Given the description of an element on the screen output the (x, y) to click on. 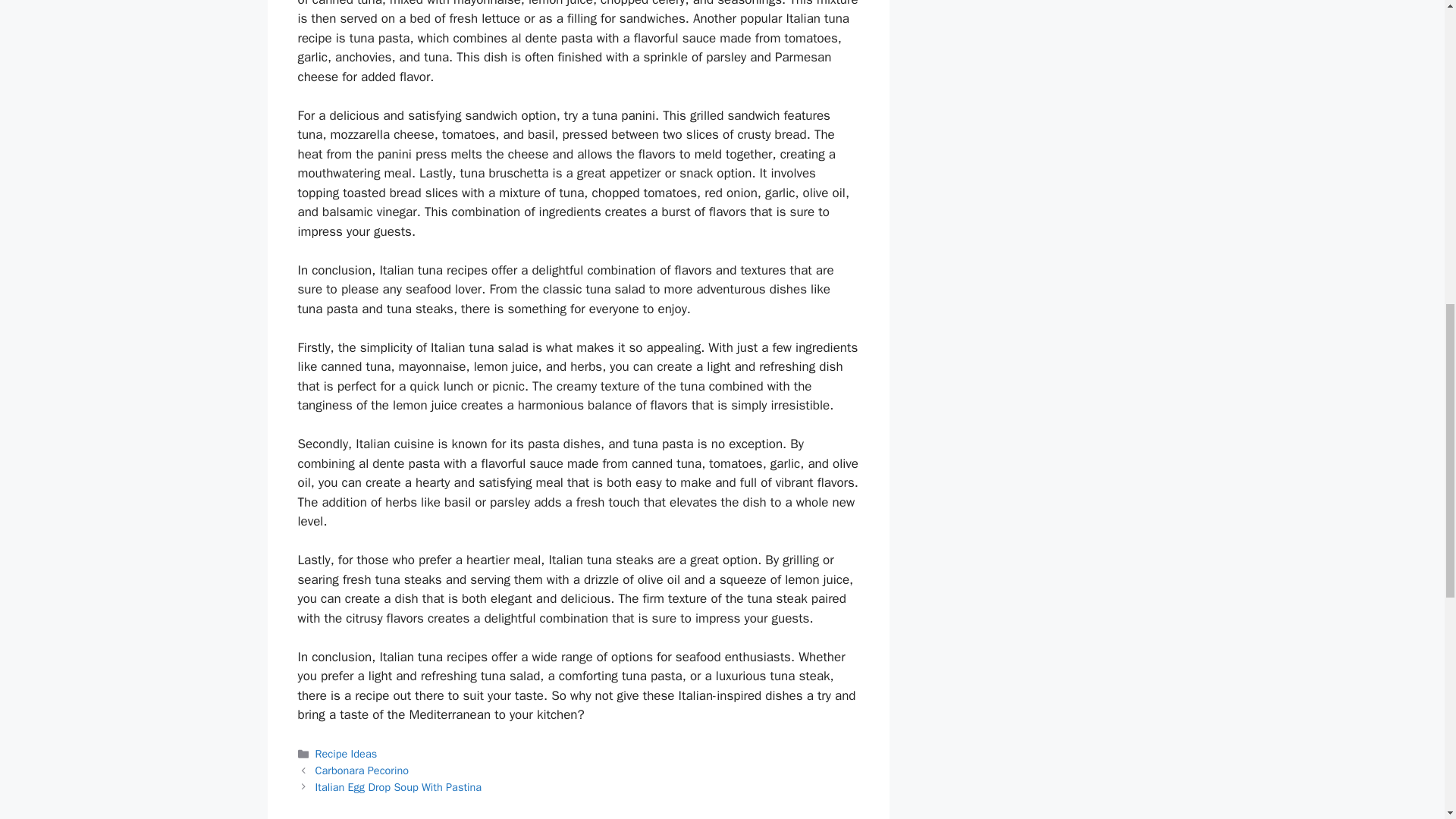
Carbonara Pecorino (362, 770)
Italian Egg Drop Soup With Pastina (398, 786)
Recipe Ideas (346, 753)
